Given the description of an element on the screen output the (x, y) to click on. 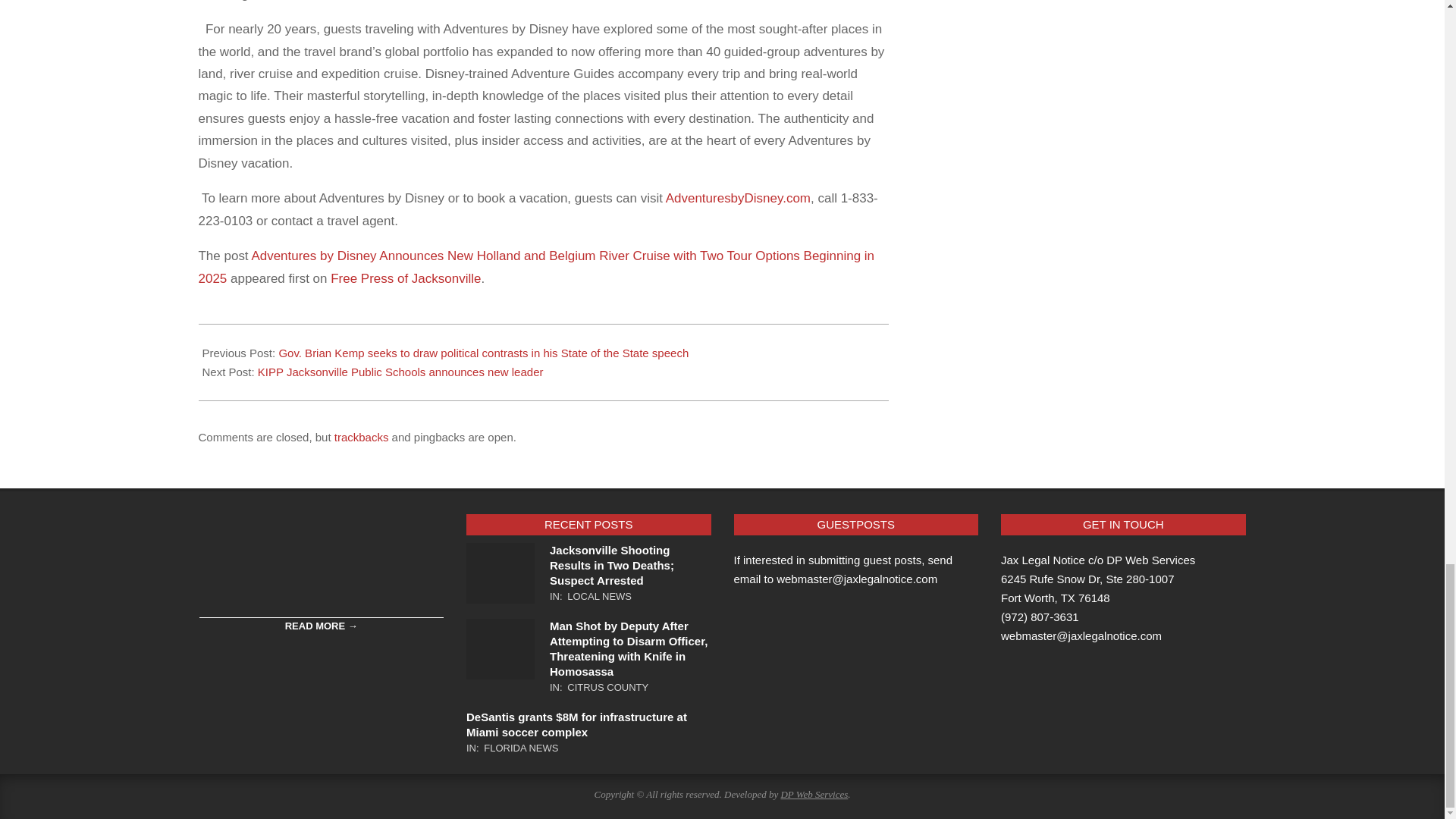
AdventuresbyDisney.com (737, 197)
trackbacks (361, 436)
Free Press of Jacksonville (405, 278)
KIPP Jacksonville Public Schools announces new leader (400, 371)
